Given the description of an element on the screen output the (x, y) to click on. 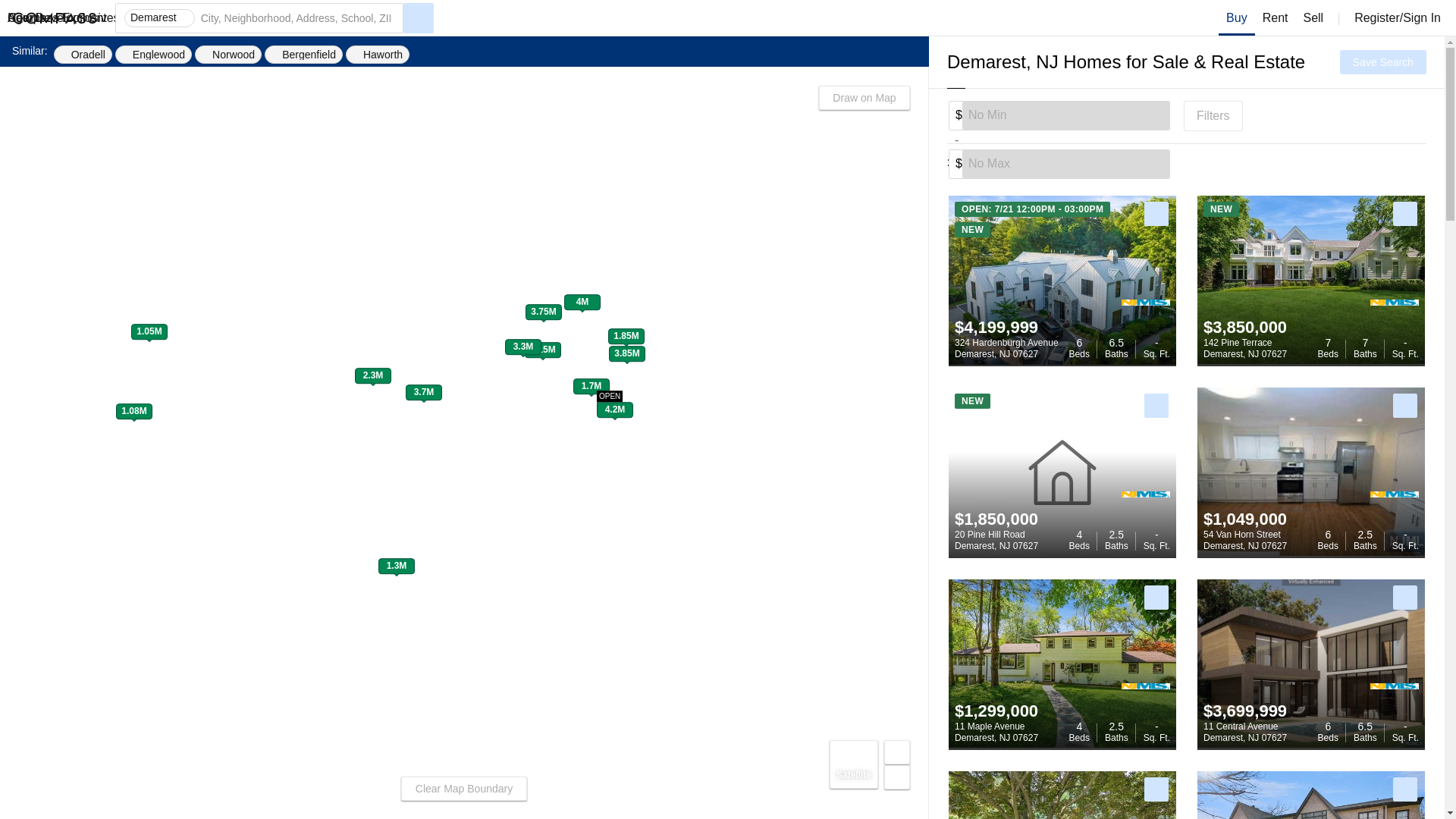
No Min (1065, 115)
Haworth (377, 54)
Buy (1245, 540)
No Max (1236, 18)
Sort by Recommended (1245, 348)
Norwood (1065, 163)
Englewood (996, 540)
Sell (1108, 162)
Rent (228, 54)
Save Search (1006, 348)
Filters (153, 54)
